Given the description of an element on the screen output the (x, y) to click on. 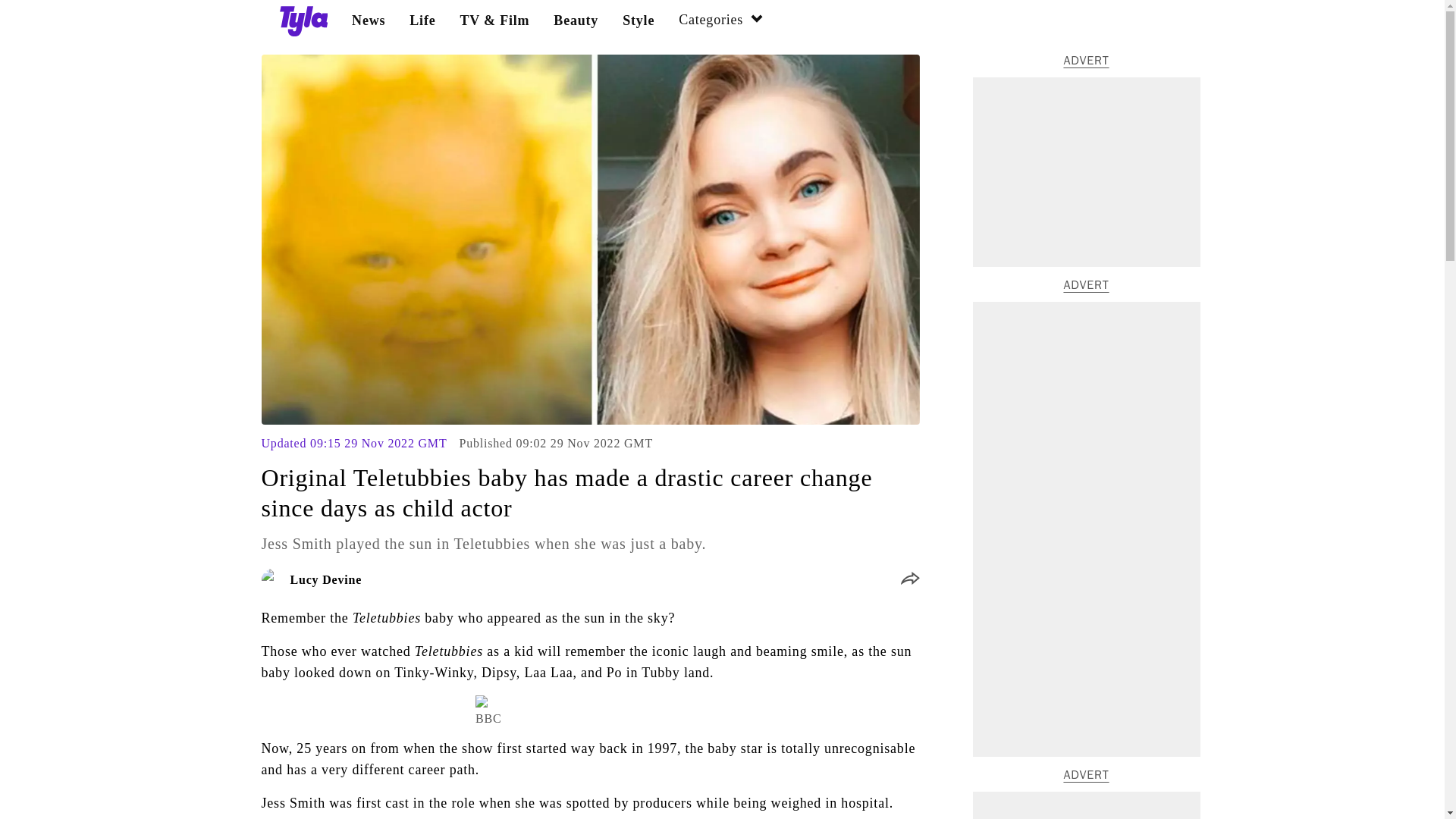
Life (422, 20)
News (368, 20)
Beauty (575, 20)
Style (638, 20)
Categories (721, 21)
